Given the description of an element on the screen output the (x, y) to click on. 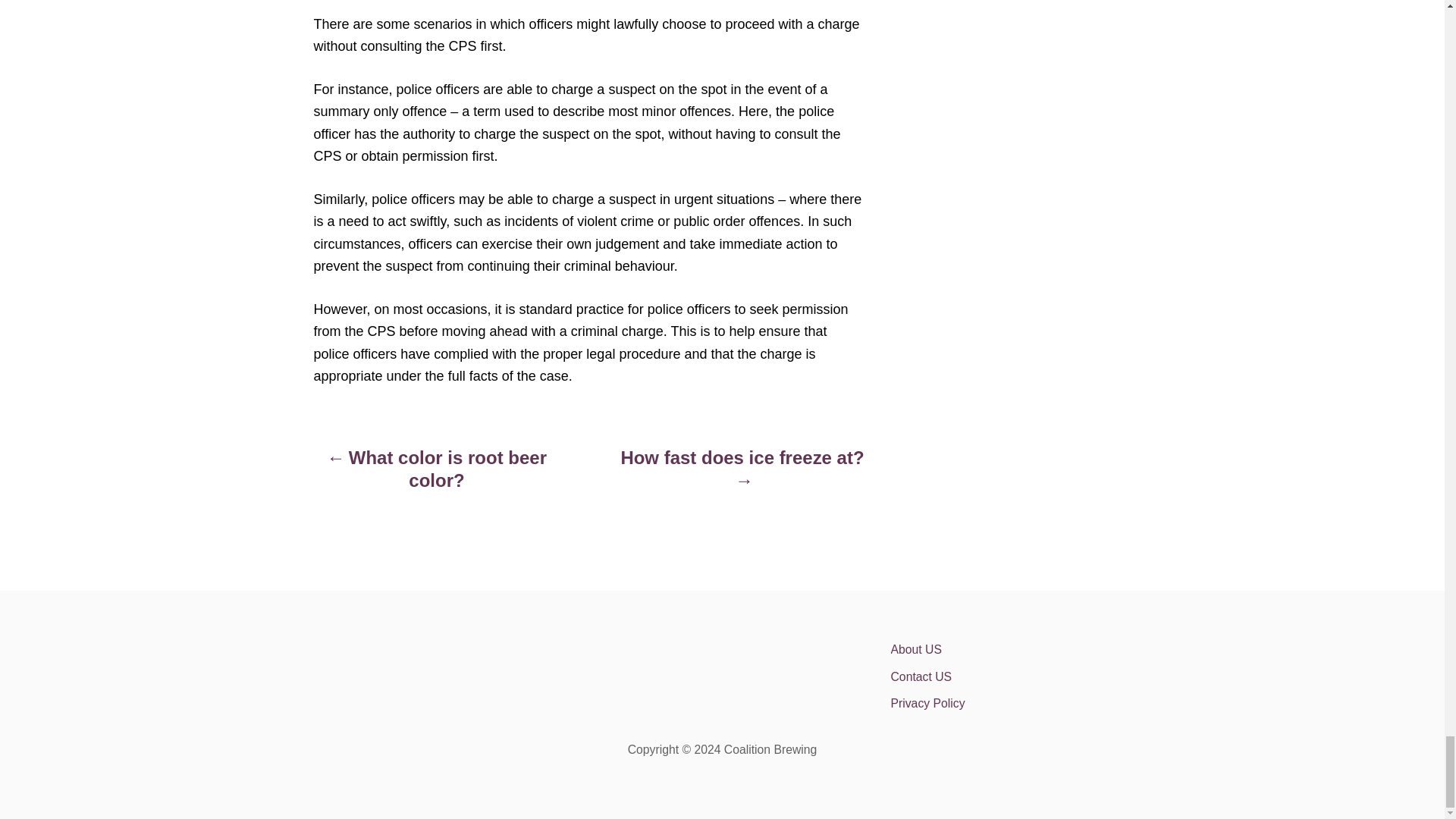
Contact US (1021, 677)
What color is root beer color? (437, 476)
How fast does ice freeze at? (741, 476)
Privacy Policy (1021, 703)
About US (1021, 649)
